Given the description of an element on the screen output the (x, y) to click on. 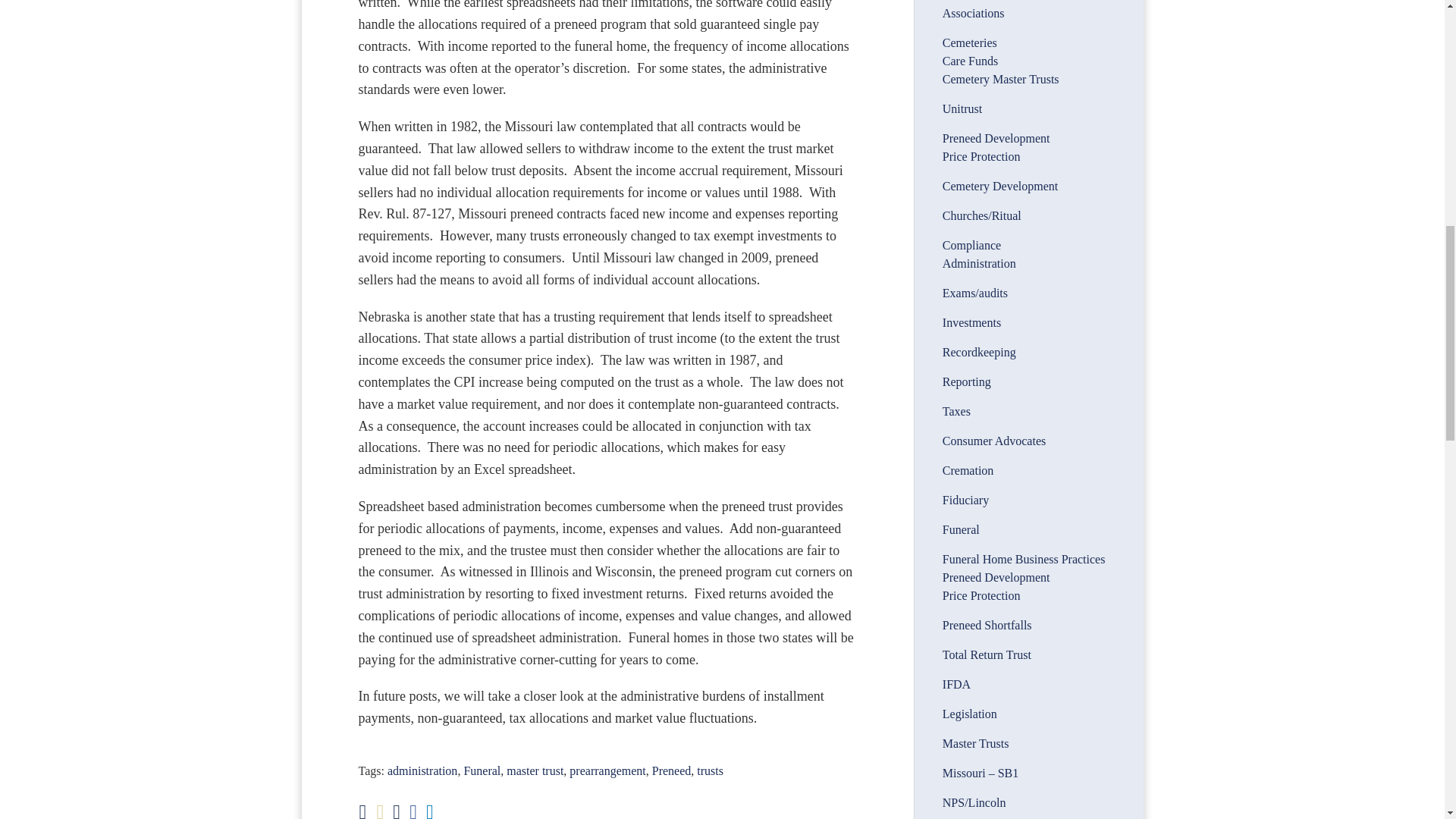
Cemeteries (969, 42)
Preneed (671, 770)
trusts (710, 770)
master trust (534, 770)
Preneed Development (995, 137)
Cemetery Development (1000, 185)
Cemetery Master Trusts (1000, 78)
prearrangement (607, 770)
Care Funds (969, 60)
Associations (973, 12)
